Given the description of an element on the screen output the (x, y) to click on. 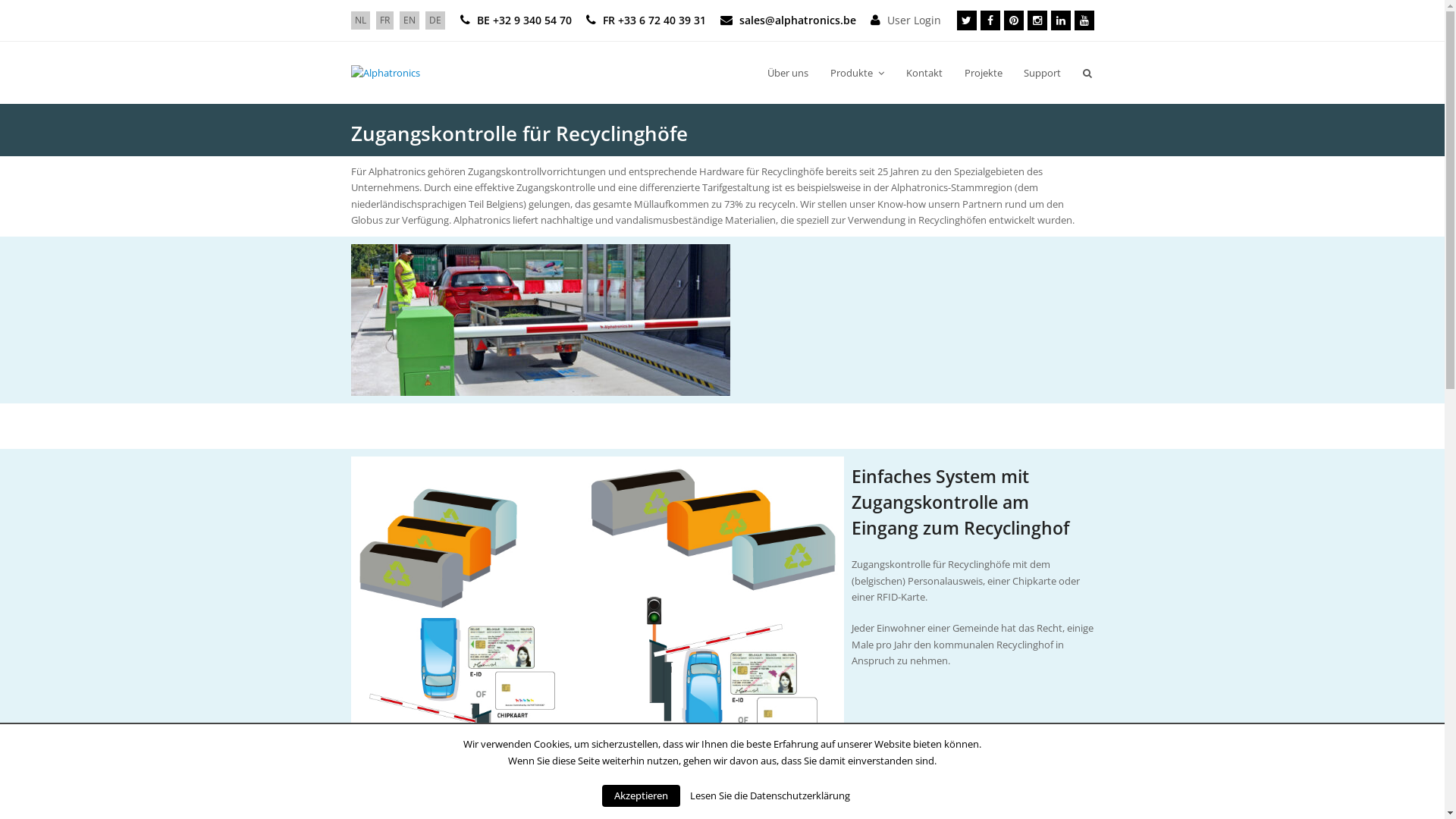
Kontakt Element type: text (923, 72)
Projekte Element type: text (983, 72)
NL Element type: text (360, 19)
EN Element type: text (409, 19)
Sitemap Element type: text (737, 795)
Youtube Element type: hover (1083, 20)
User Login Element type: text (919, 19)
Facebook Element type: hover (989, 20)
DE Element type: text (435, 19)
Support Element type: text (1042, 72)
Registrieren Element type: text (1067, 795)
Pinterest Element type: hover (1013, 20)
FR Element type: text (384, 19)
LinkedIn Element type: hover (1060, 20)
Instagram Element type: hover (1036, 20)
Produkte Element type: text (857, 72)
Alphatronics Element type: hover (384, 71)
Akzeptieren Element type: text (641, 795)
Twitter Element type: hover (966, 20)
